Given the description of an element on the screen output the (x, y) to click on. 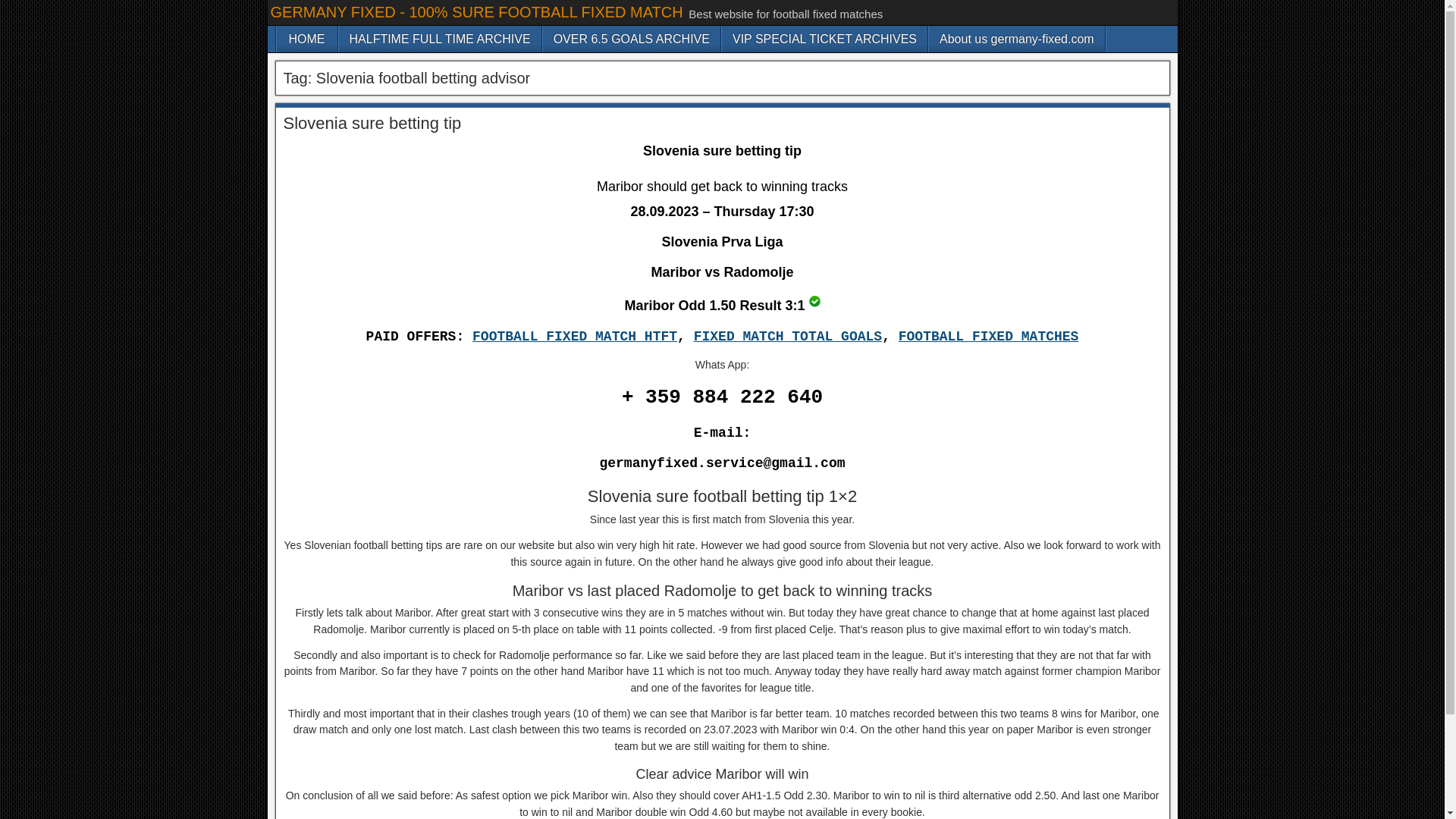
VIP SPECIAL TICKET ARCHIVES (824, 38)
OVER 6.5 GOALS ARCHIVE (631, 38)
FIXED MATCH TOTAL GOALS (788, 336)
HOME (306, 38)
Slovenia sure betting tip (372, 122)
FOOTBALL FIXED MATCHES (988, 336)
Slovenia sure betting tip (815, 301)
FOOTBALL FIXED MATCH HTFT (574, 336)
HALFTIME FULL TIME ARCHIVE (438, 38)
About us germany-fixed.com (1016, 38)
